Given the description of an element on the screen output the (x, y) to click on. 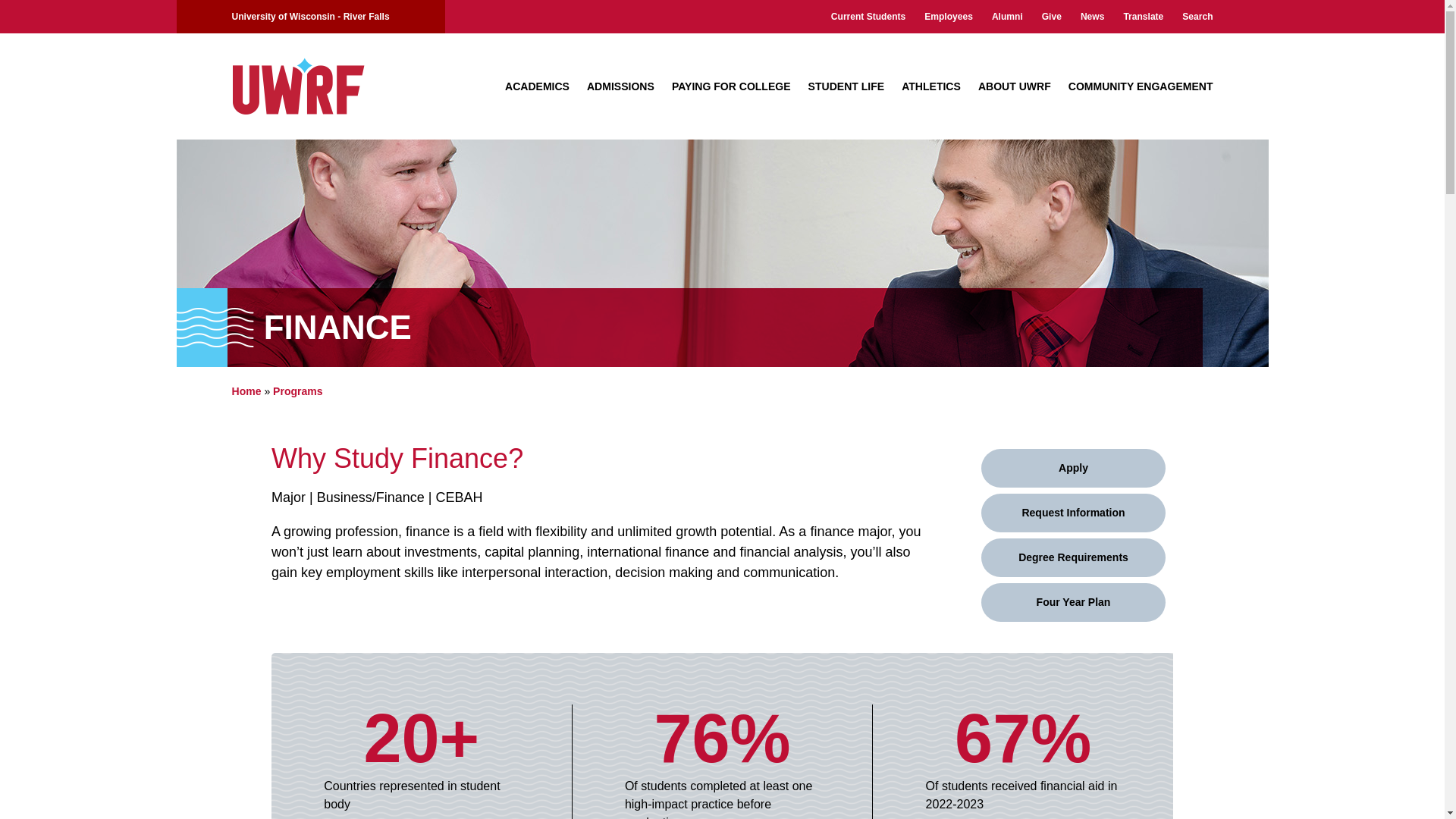
ABOUT UWRF (1014, 86)
Give (1051, 16)
Employees (948, 16)
PAYING FOR COLLEGE (730, 86)
STUDENT LIFE (846, 86)
News (1091, 16)
Search (1197, 16)
Alumni (1007, 16)
University of Wisconsin - River Falls (310, 16)
Current Students (868, 16)
ADMISSIONS (619, 86)
COMMUNITY ENGAGEMENT (1140, 86)
ACADEMICS (537, 86)
Translate (1142, 16)
